Given the description of an element on the screen output the (x, y) to click on. 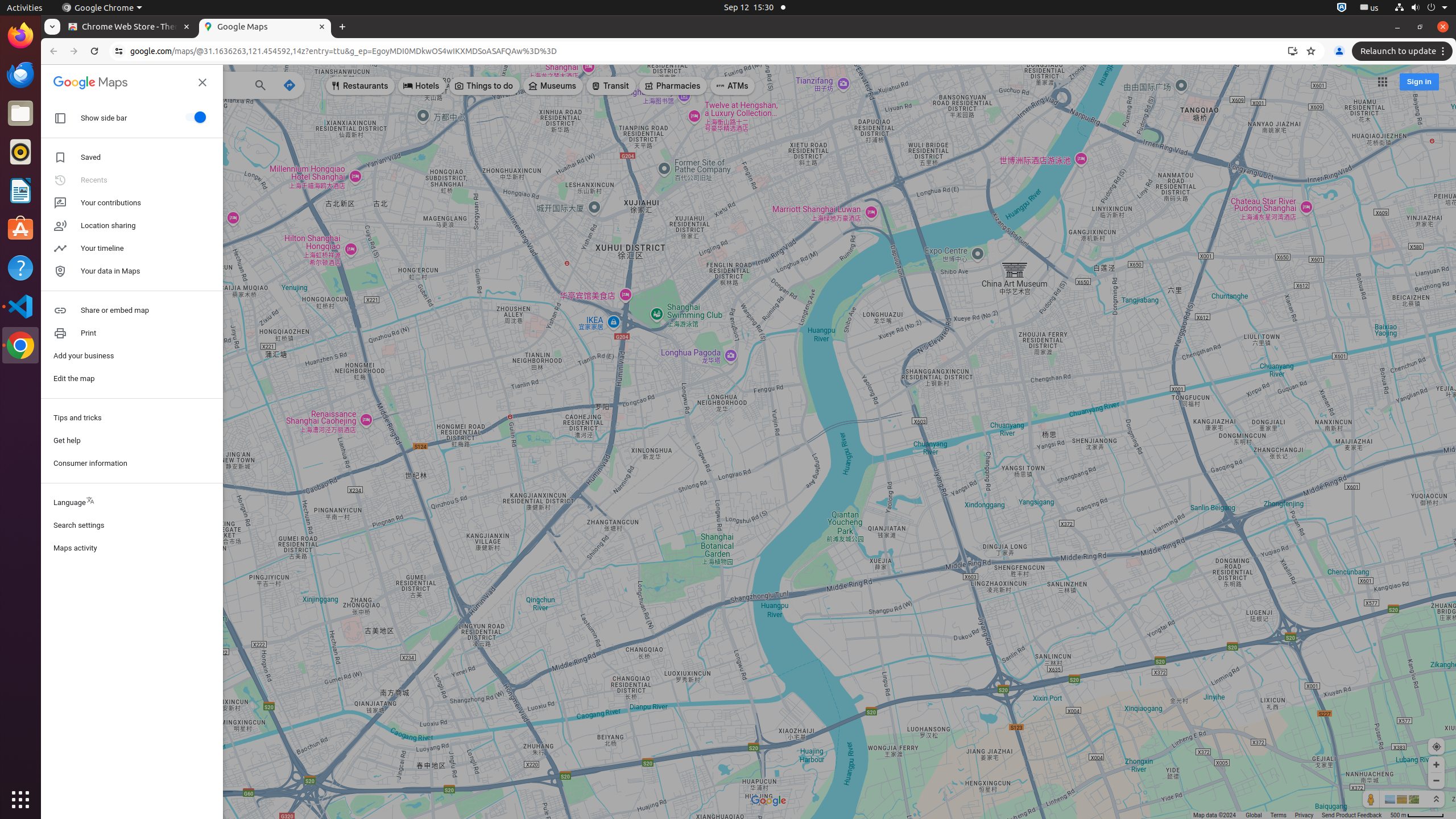
Maps activity Element type: menu-item (131, 548)
Things to do Element type: push-button (484, 85)
Forward Element type: push-button (73, 50)
Pharmacies Element type: push-button (672, 85)
:1.72/StatusNotifierItem Element type: menu (1341, 7)
